Given the description of an element on the screen output the (x, y) to click on. 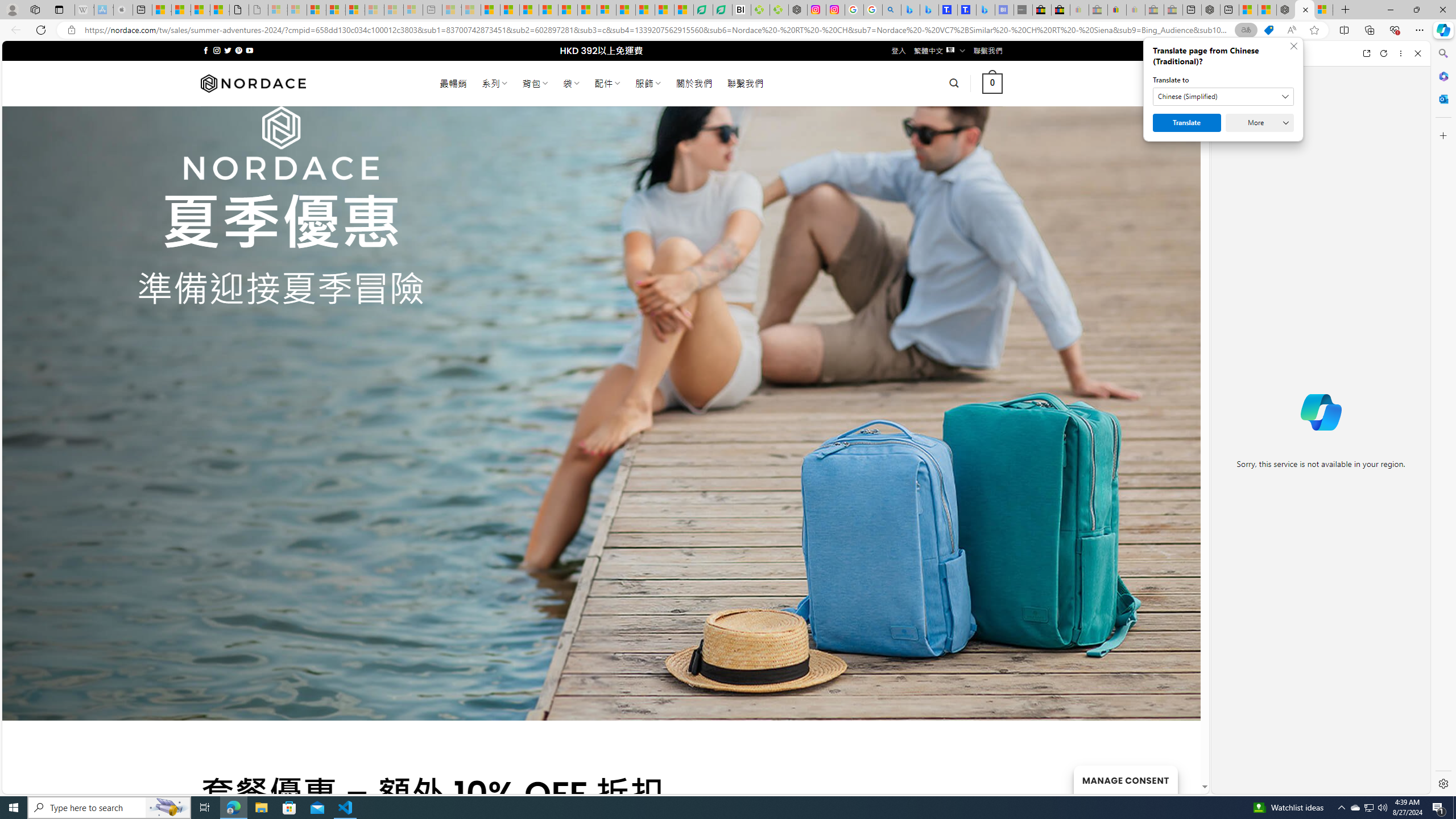
Nordace (252, 83)
Buy iPad - Apple - Sleeping (123, 9)
Show translate options (1245, 29)
Translate (1187, 122)
Aberdeen, Hong Kong SAR weather forecast | Microsoft Weather (180, 9)
Follow on Twitter (227, 50)
